Given the description of an element on the screen output the (x, y) to click on. 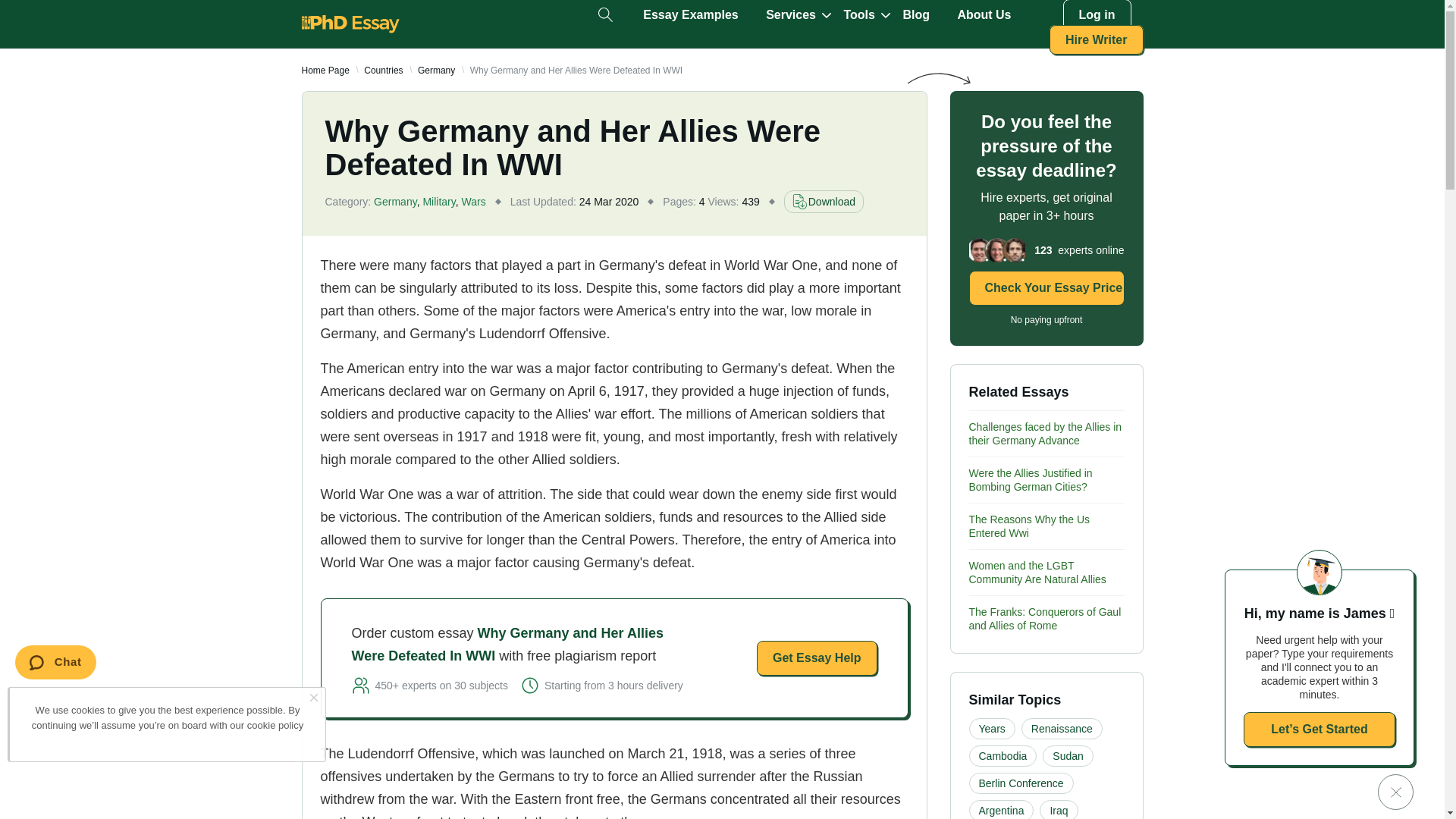
Home Page (325, 70)
Tools (859, 15)
Log in (1096, 15)
Download (823, 201)
Services (790, 15)
Get Essay Help (817, 657)
Germany (435, 70)
Essay Examples (690, 15)
Countries (383, 70)
Blog (916, 15)
